Given the description of an element on the screen output the (x, y) to click on. 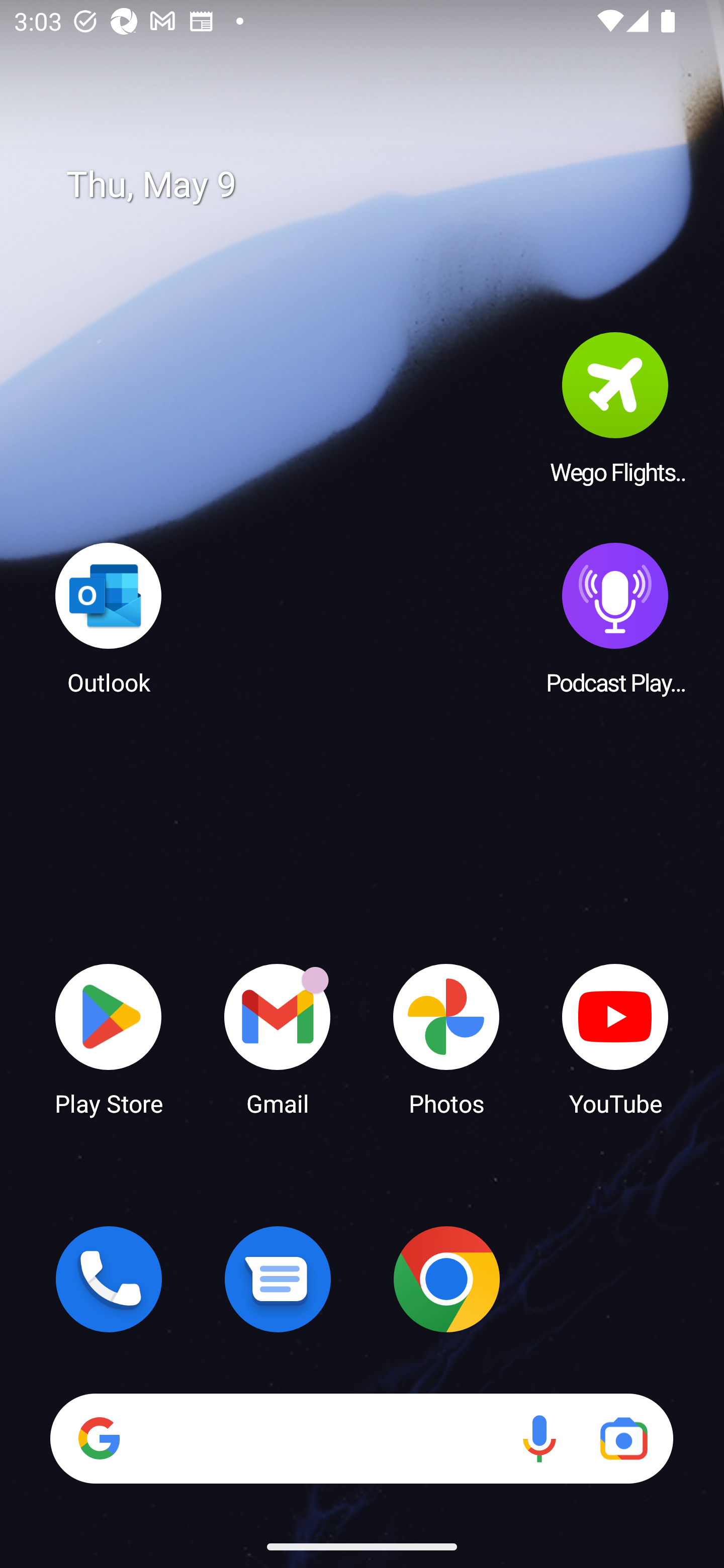
Thu, May 9 (375, 184)
Wego Flights & Hotels (615, 407)
Outlook (108, 617)
Podcast Player (615, 617)
Play Store (108, 1038)
Gmail Gmail has 18 notifications (277, 1038)
Photos (445, 1038)
YouTube (615, 1038)
Phone (108, 1279)
Messages (277, 1279)
Chrome (446, 1279)
Search Voice search Google Lens (361, 1438)
Voice search (539, 1438)
Google Lens (623, 1438)
